Given the description of an element on the screen output the (x, y) to click on. 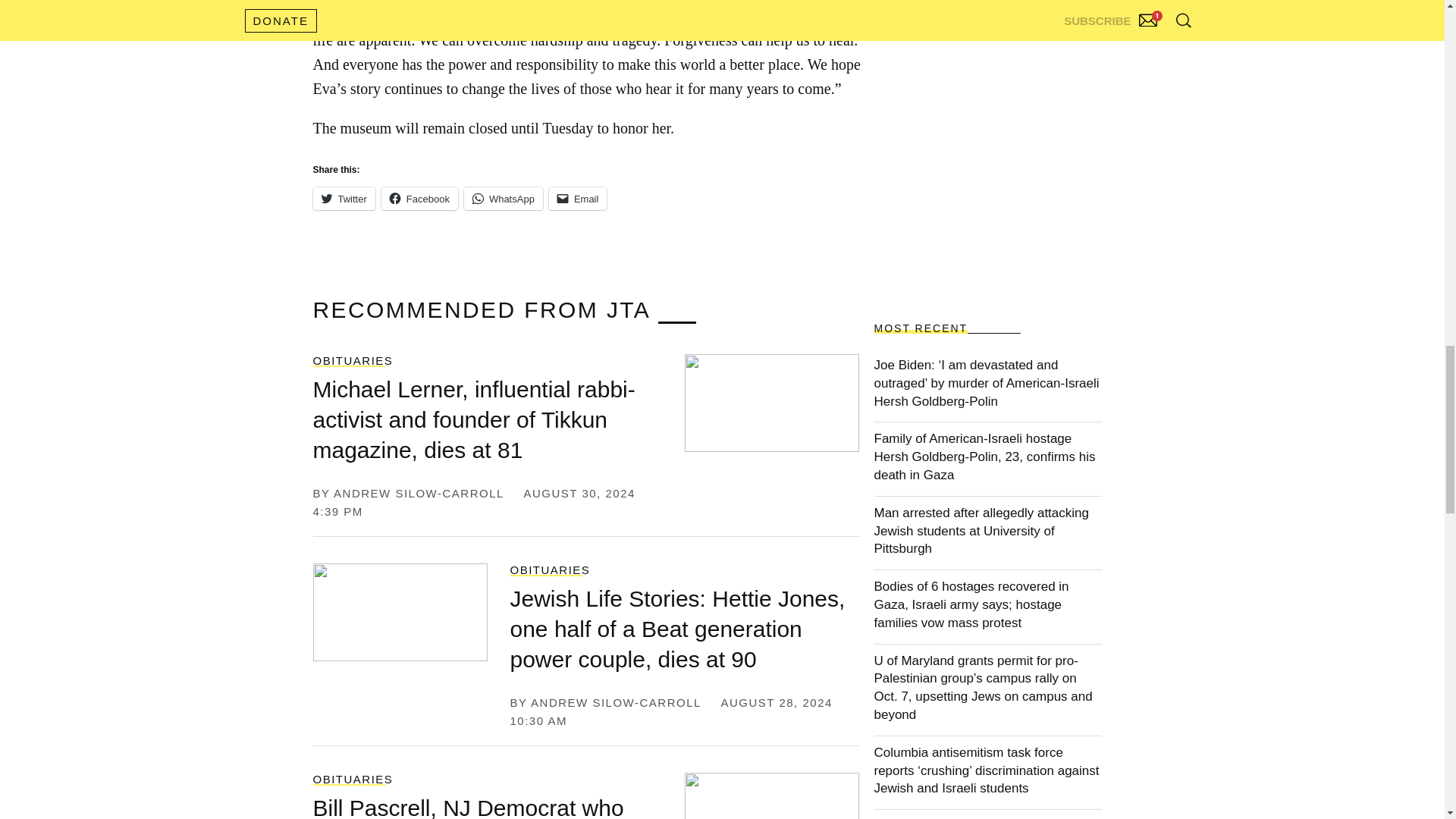
Click to email a link to a friend (577, 198)
Click to share on Twitter (343, 198)
Click to share on WhatsApp (503, 198)
Click to share on Facebook (419, 198)
